Given the description of an element on the screen output the (x, y) to click on. 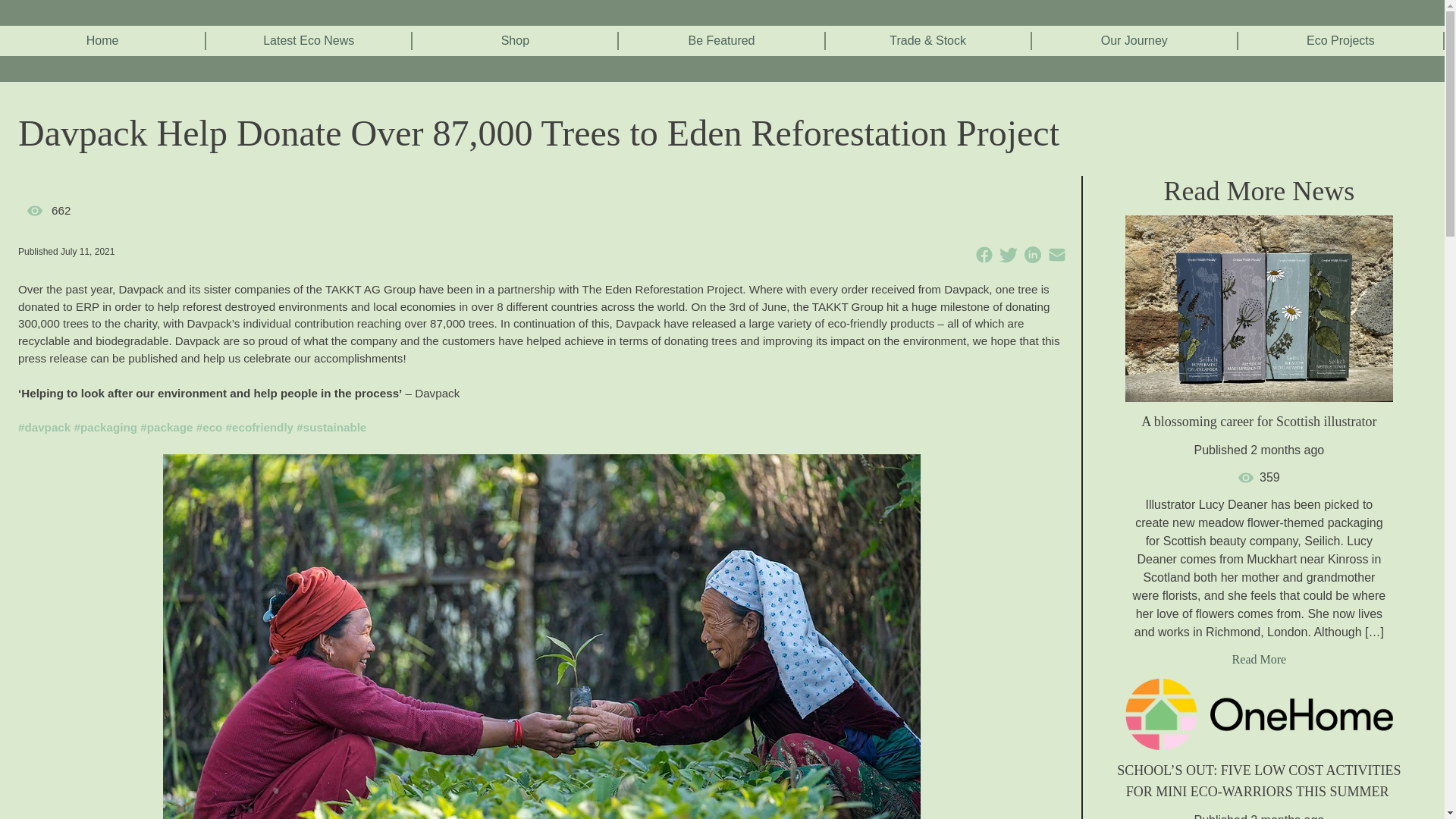
Shop (514, 40)
Eco Projects (1340, 40)
Read More (1259, 658)
Home (102, 40)
Be Featured (720, 40)
A blossoming career for Scottish illustrator (1258, 426)
Latest Eco News (308, 40)
Our Journey (1133, 40)
Share by Email (1056, 254)
